Given the description of an element on the screen output the (x, y) to click on. 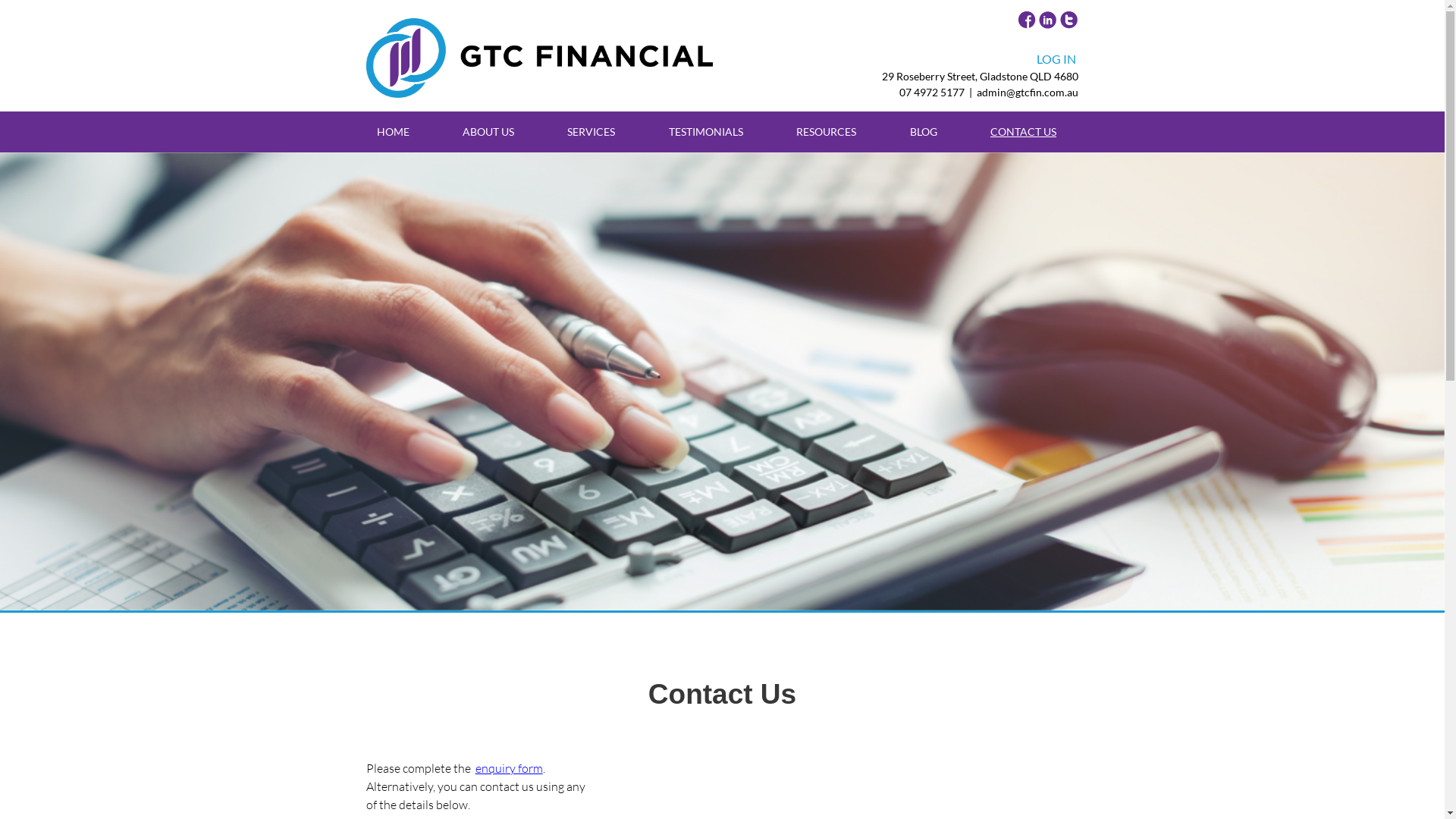
TESTIMONIALS Element type: text (705, 130)
SERVICES Element type: text (591, 130)
admin@gtcfin.com.au Element type: text (1027, 90)
ABOUT US Element type: text (488, 130)
GTC Twitter Page Element type: hover (1069, 21)
CONTACT US Element type: text (1023, 130)
GTC Linkedin Page Element type: hover (1047, 21)
RESOURCES Element type: text (826, 130)
07 4972 5177 Element type: text (931, 90)
BLOG Element type: text (923, 130)
HOME Element type: text (392, 130)
enquiry form Element type: text (508, 767)
GTC Horizontal Logo Element type: hover (538, 57)
GTC Facebook Page Element type: hover (1026, 21)
New-Blog-Page-Banner Element type: hover (722, 380)
LOG IN Element type: text (1056, 58)
